Given the description of an element on the screen output the (x, y) to click on. 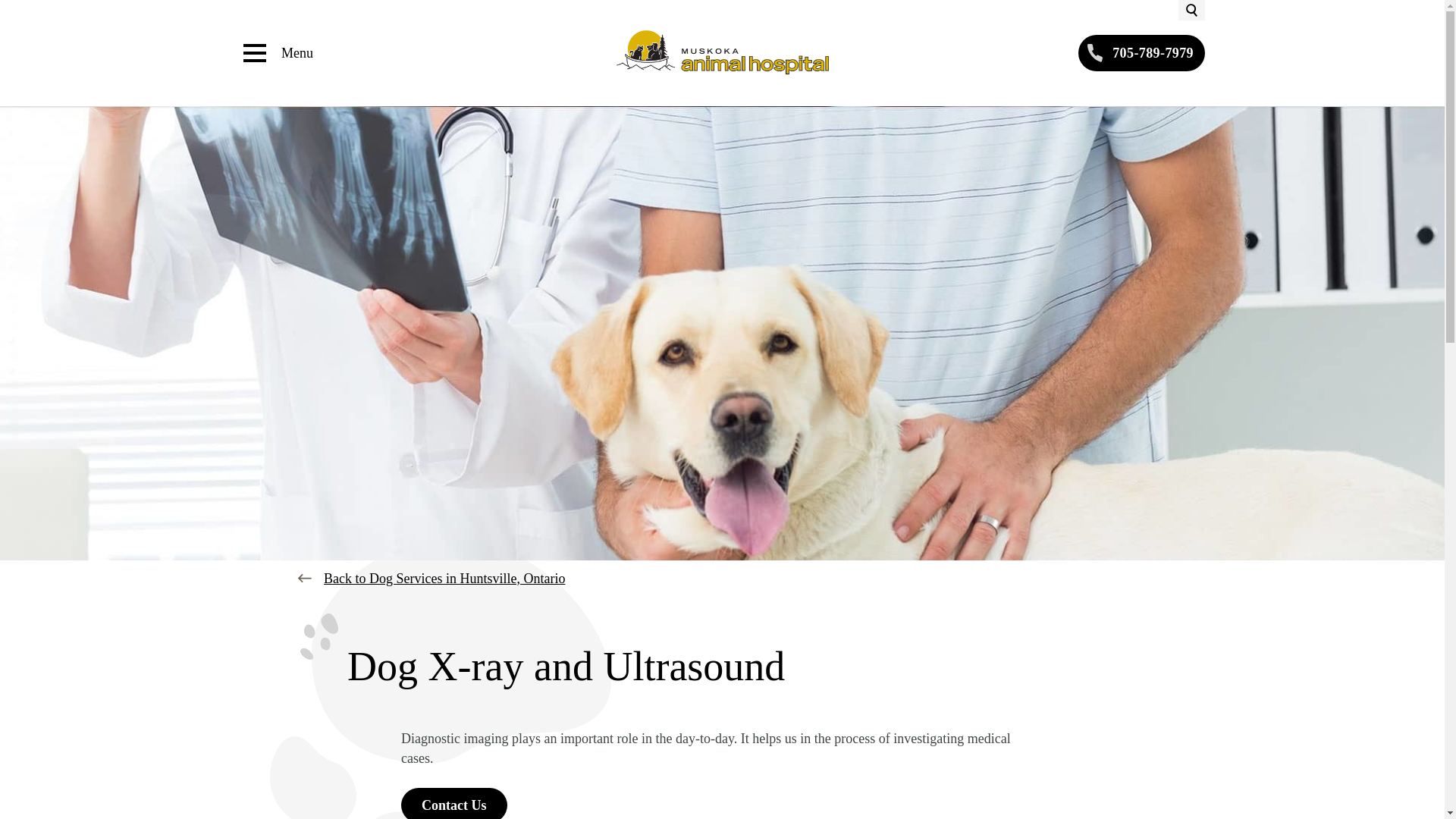
Back to Dog Services in Huntsville, Ontario (443, 578)
705-789-7979 (1141, 53)
Contact Us (453, 803)
